Given the description of an element on the screen output the (x, y) to click on. 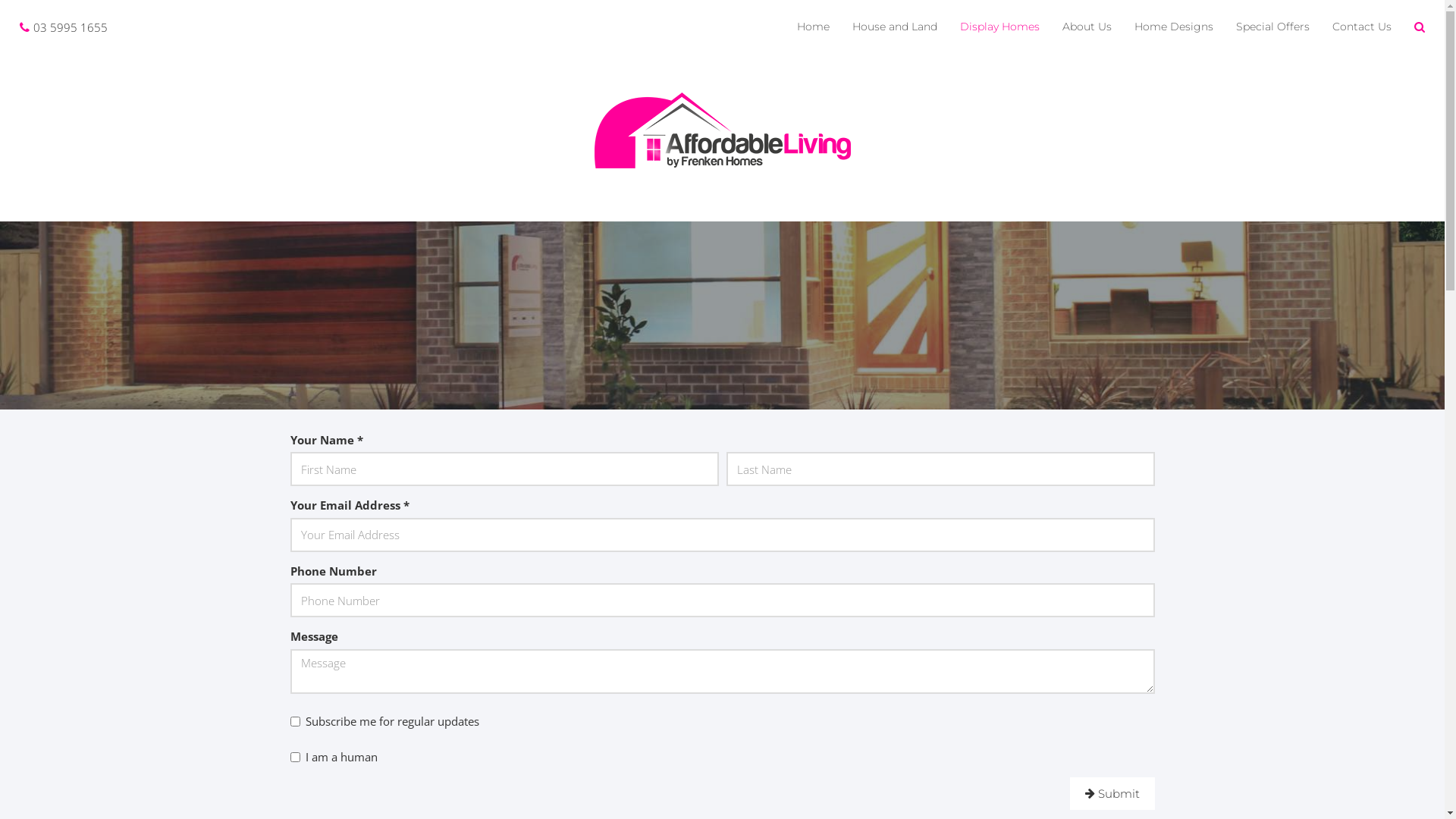
Frenken Homes Element type: hover (722, 128)
Quick property search Element type: hover (1419, 27)
Special Offers Element type: text (1272, 26)
Home Element type: text (812, 26)
House and Land Element type: text (894, 26)
Contact Us Element type: text (1361, 26)
About Us Element type: text (1087, 26)
Submit Element type: text (1111, 793)
Display Homes Element type: text (999, 26)
Home Designs Element type: text (1173, 26)
